Given the description of an element on the screen output the (x, y) to click on. 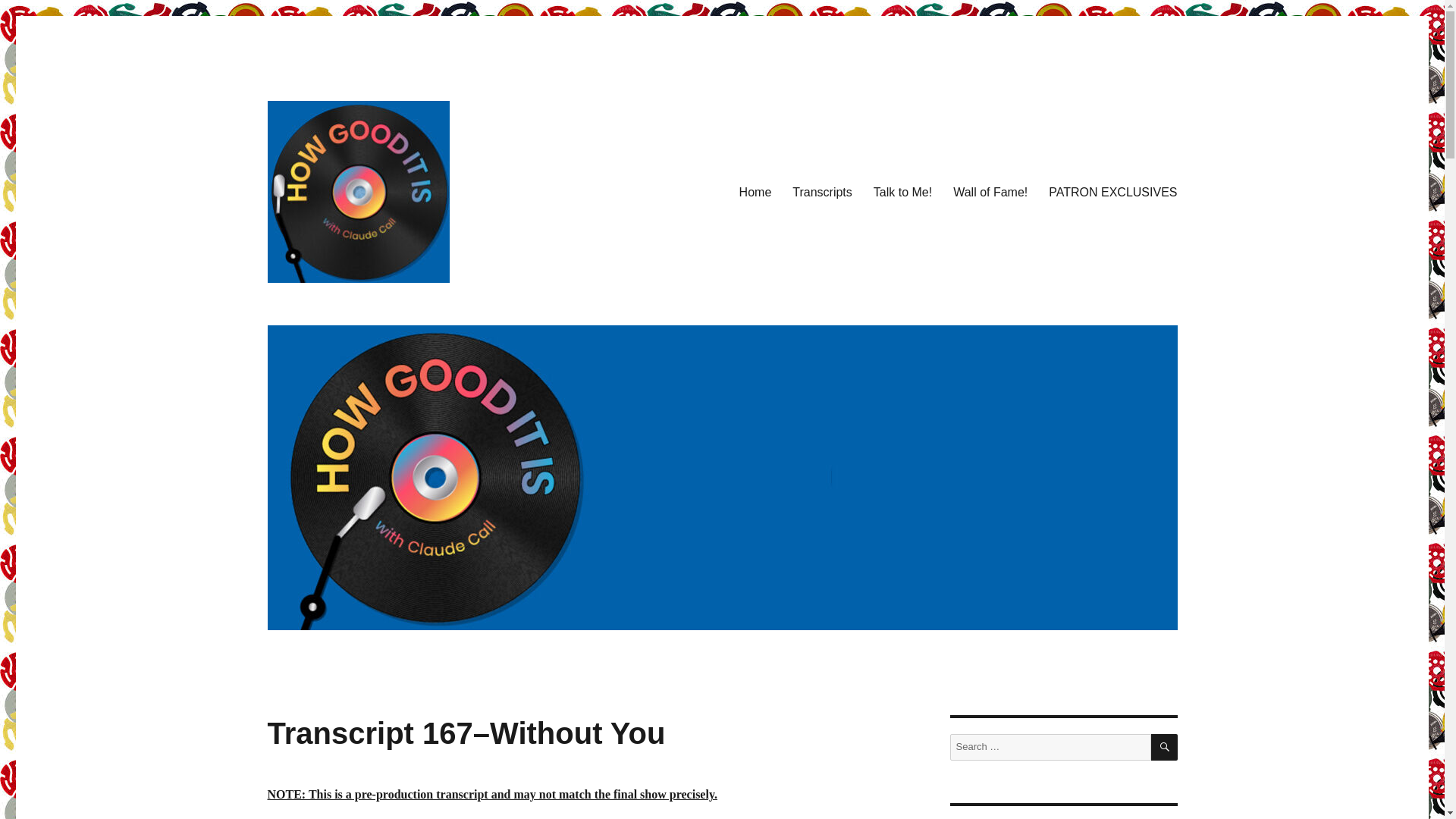
SEARCH (1164, 746)
How Good It Is (340, 306)
Home (756, 192)
Talk to Me! (902, 192)
Wall of Fame! (990, 192)
PATRON EXCLUSIVES (1113, 192)
Transcripts (822, 192)
